Given the description of an element on the screen output the (x, y) to click on. 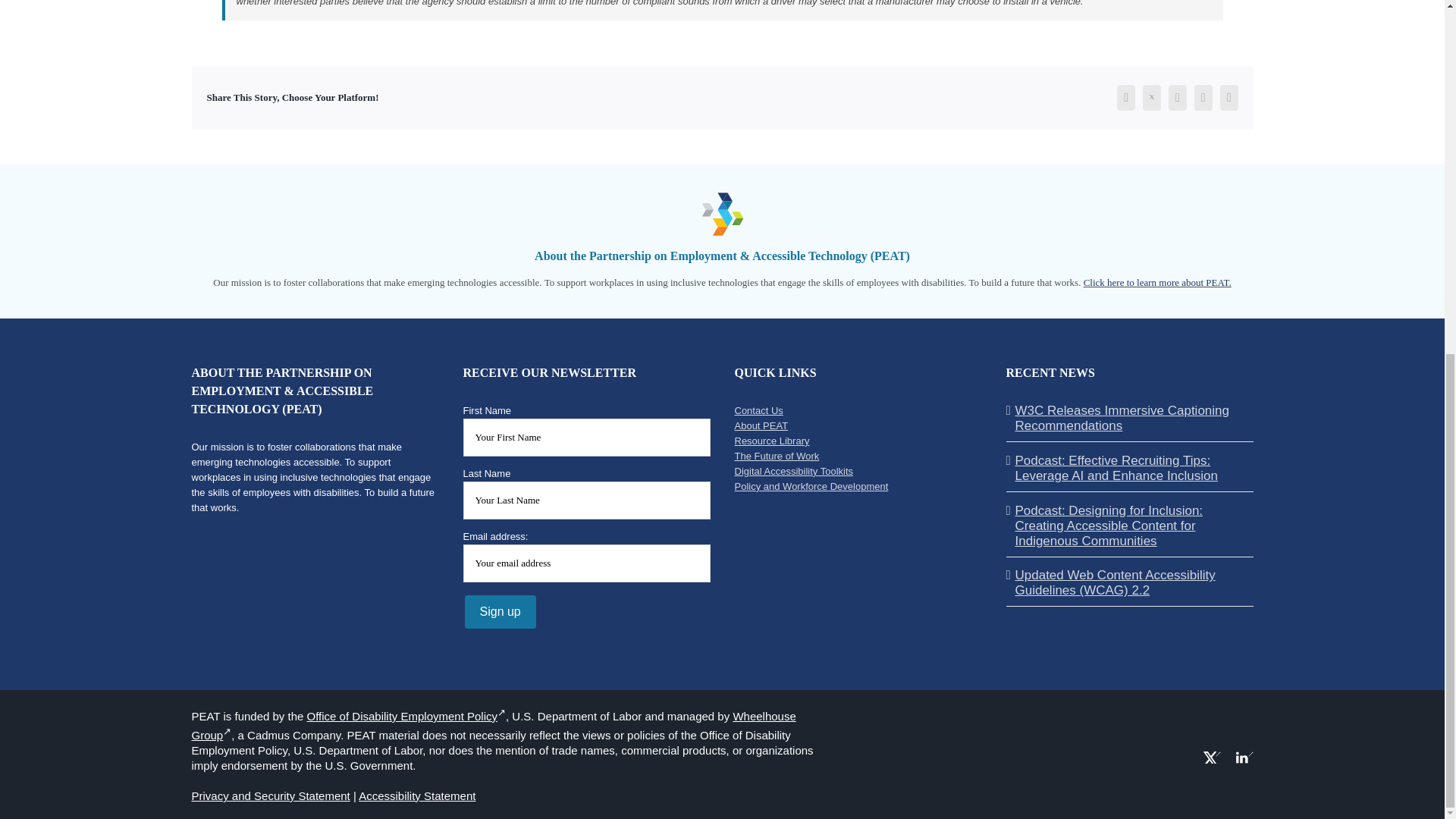
Sign up (499, 611)
